Given the description of an element on the screen output the (x, y) to click on. 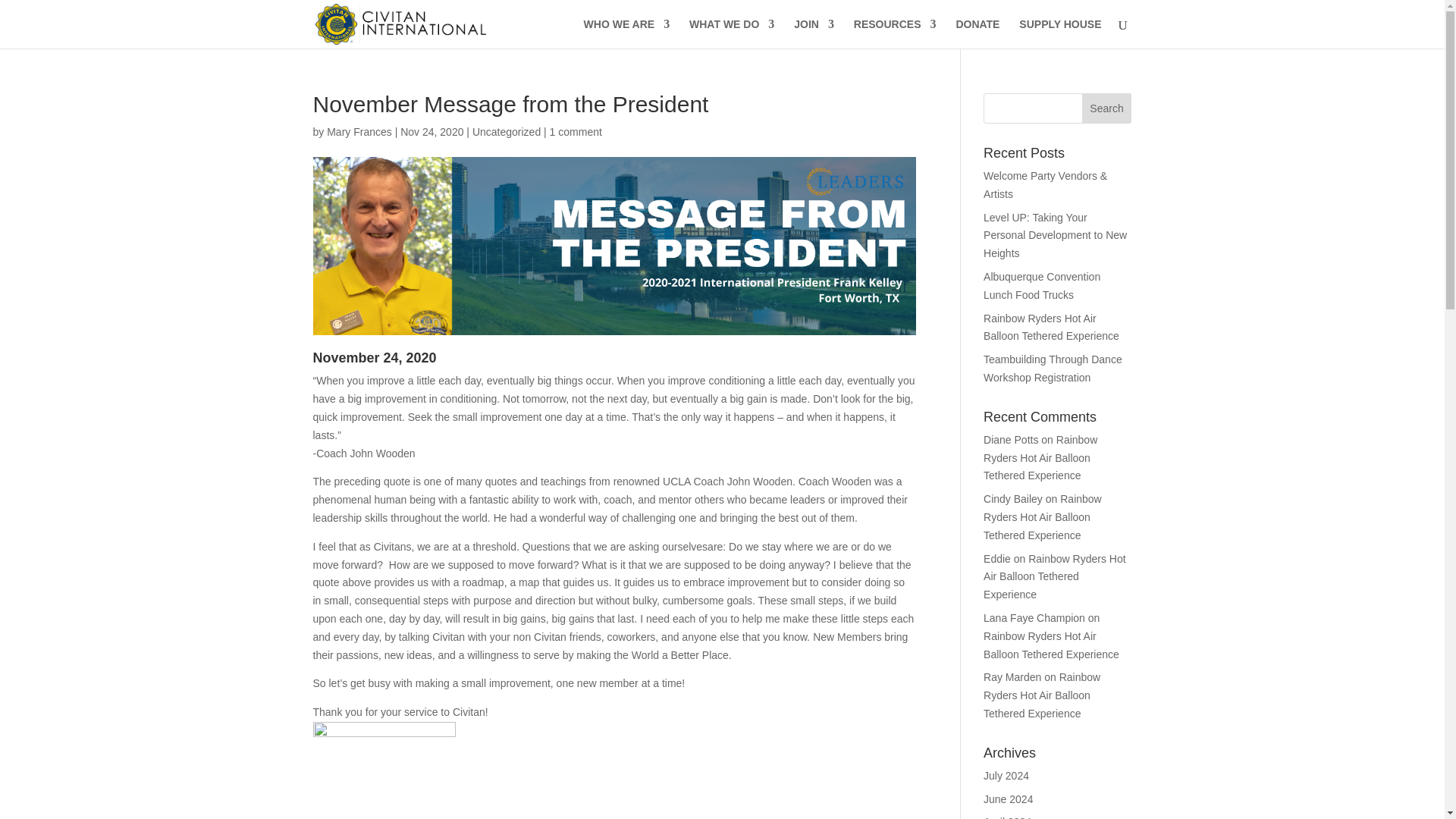
WHO WE ARE (626, 33)
Uncategorized (505, 132)
1 comment (576, 132)
Level UP: Taking Your Personal Development to New Heights (1055, 235)
Albuquerque Convention Lunch Food Trucks (1042, 286)
SUPPLY HOUSE (1059, 33)
DONATE (976, 33)
Search (1106, 108)
Posts by Mary Frances (358, 132)
Search (1106, 108)
